Given the description of an element on the screen output the (x, y) to click on. 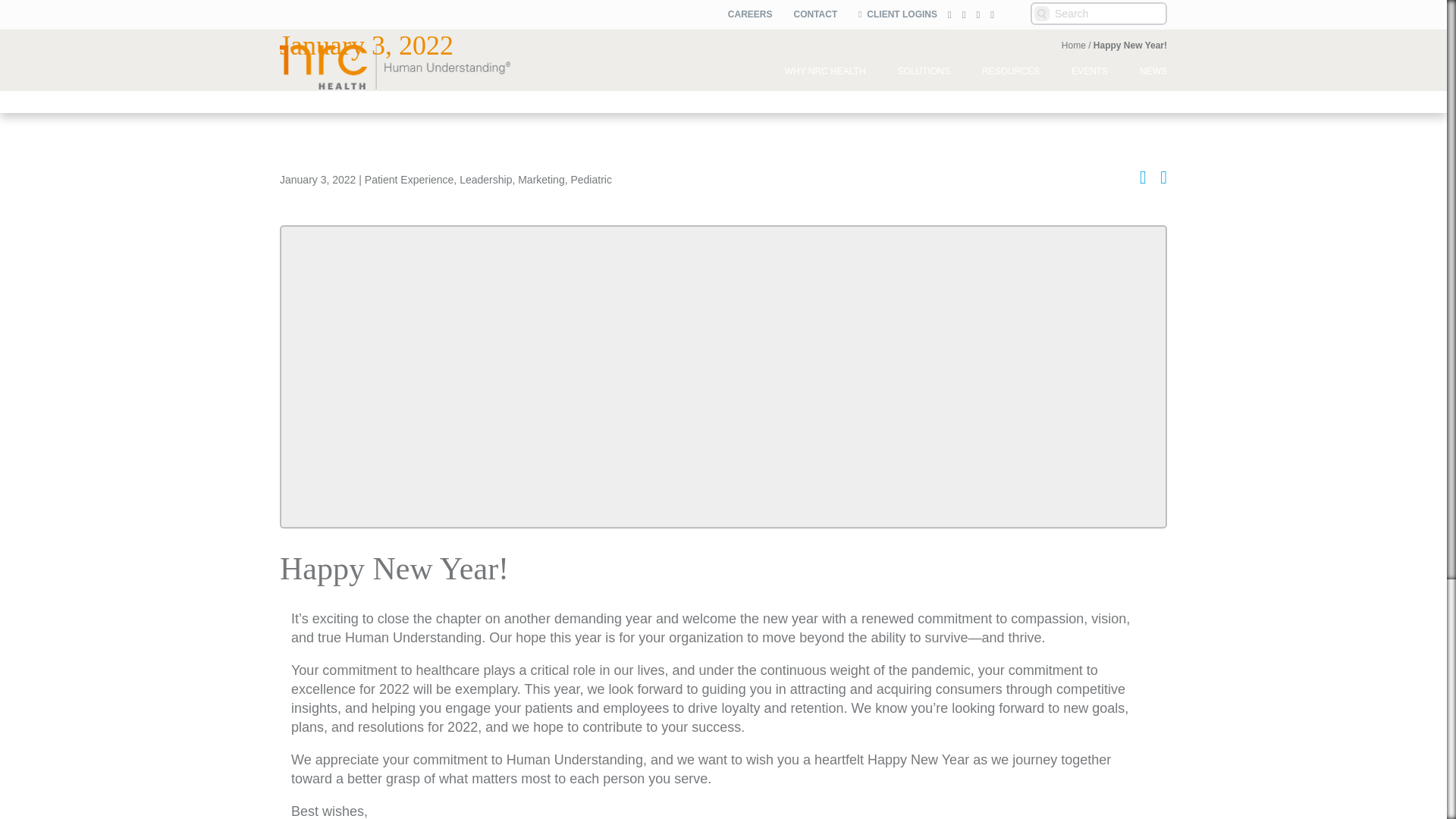
  CLIENT LOGINS (897, 14)
EVENTS (1089, 71)
RESOURCES (1010, 71)
NEWS (1145, 71)
WHY NRC HEALTH (825, 71)
SOLUTIONS (924, 71)
CAREERS (750, 14)
CONTACT (815, 14)
